Given the description of an element on the screen output the (x, y) to click on. 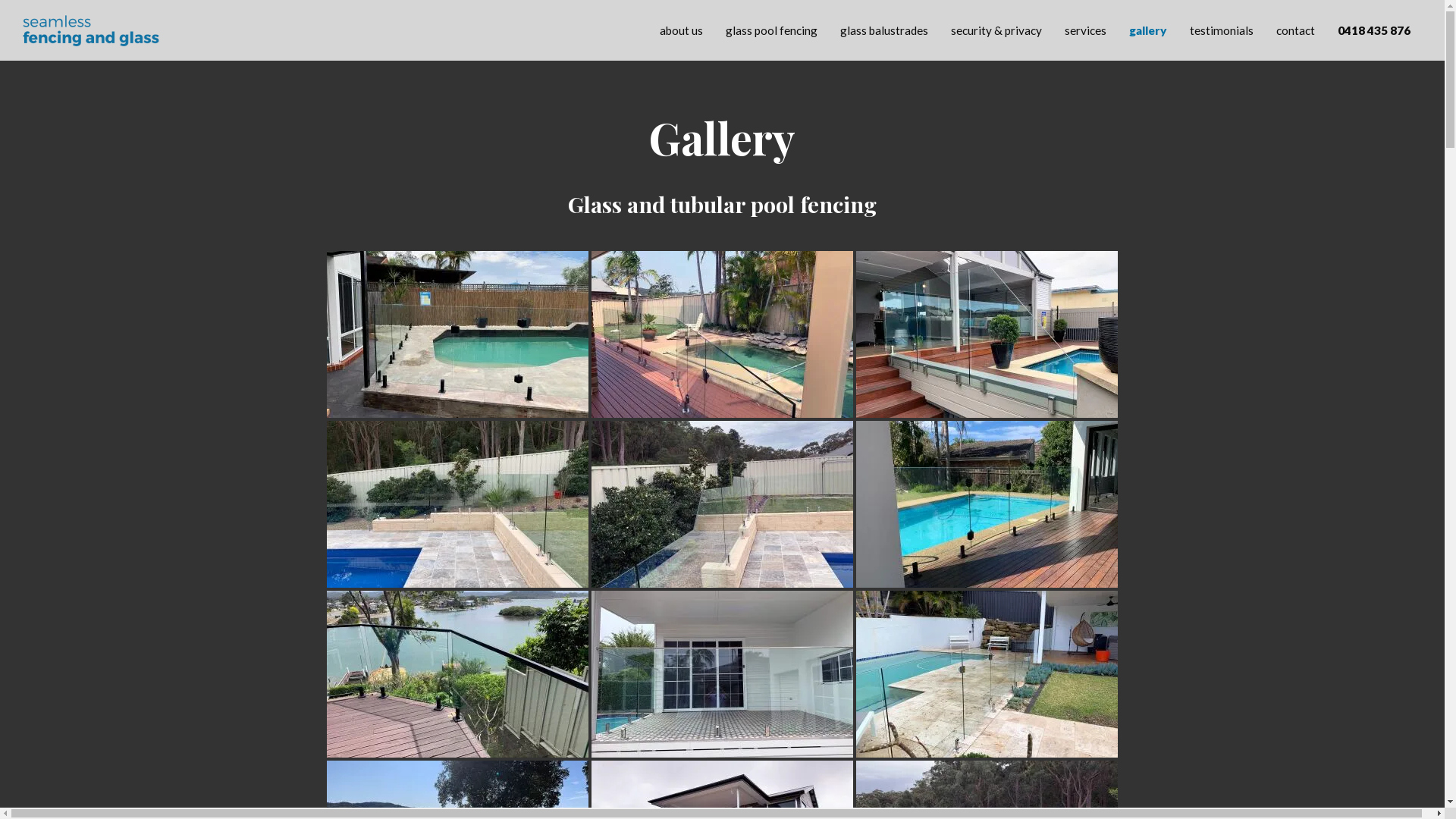
services Element type: text (1085, 24)
security & privacy Element type: text (996, 24)
Glass pool fencing Element type: hover (986, 334)
Glass pool fencing Element type: hover (722, 334)
Glass pool fencing Element type: hover (722, 673)
Glass pool fencing Element type: hover (457, 503)
Glass pool fencing Element type: hover (986, 503)
gallery Element type: text (1147, 24)
testimonials Element type: text (1221, 24)
contact Element type: text (1295, 24)
Glass pool fencing Element type: hover (457, 334)
glass balustrades Element type: text (883, 24)
Glass pool fencing Element type: hover (986, 673)
Glass pool fencing Element type: hover (722, 503)
about us Element type: text (681, 24)
Glass pool fencing Element type: hover (457, 673)
seamless fencing and glass Element type: text (105, 26)
glass pool fencing Element type: text (771, 24)
0418 435 876 Element type: text (1373, 24)
